Given the description of an element on the screen output the (x, y) to click on. 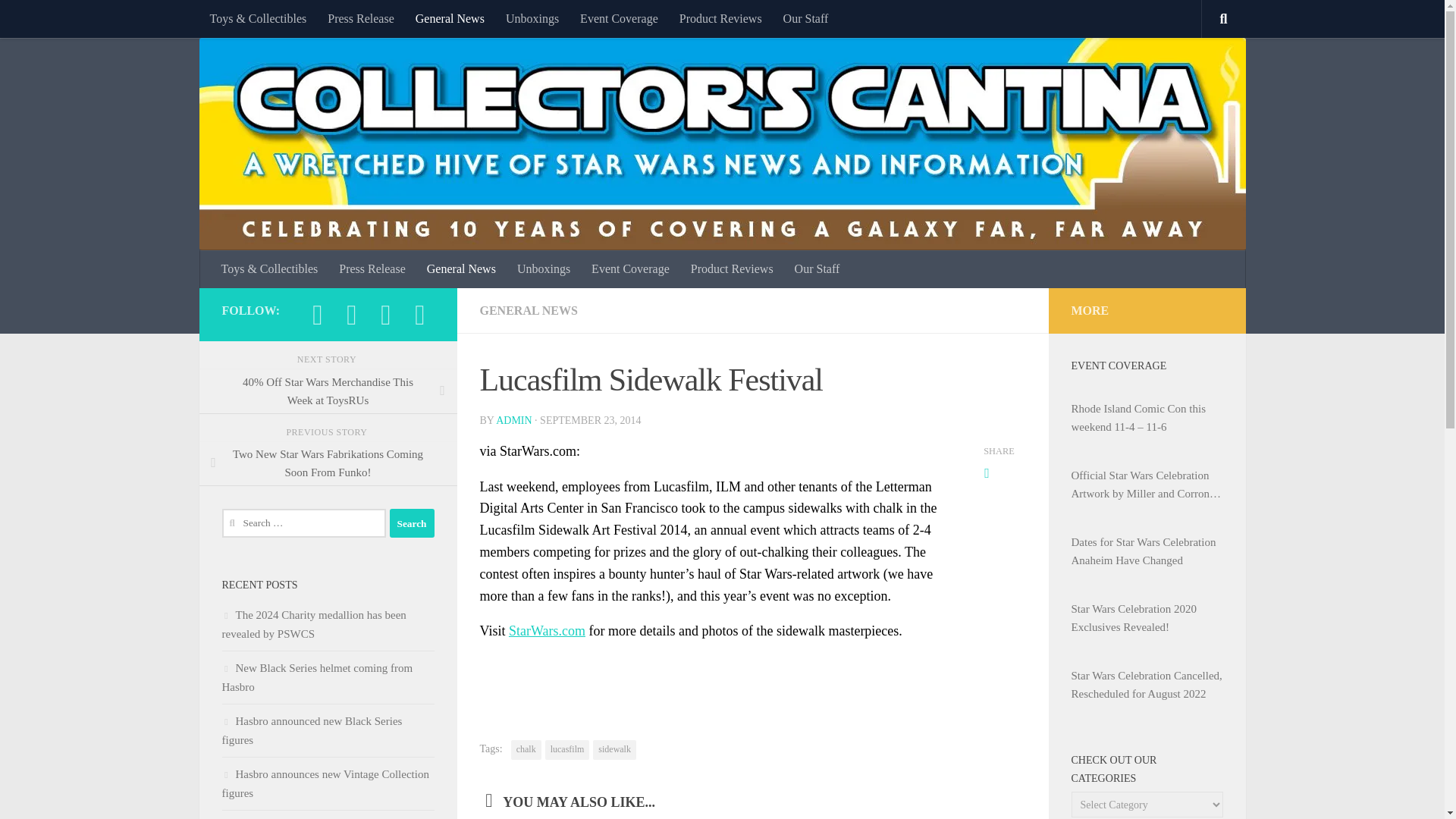
General News (461, 269)
Event Coverage (618, 18)
Product Reviews (720, 18)
Event Coverage (629, 269)
Follow us on Facebook (316, 315)
Follow us on Twitter (384, 315)
Our Staff (806, 18)
Search (411, 522)
Follow us on Youtube (419, 315)
Unboxings (532, 18)
